Given the description of an element on the screen output the (x, y) to click on. 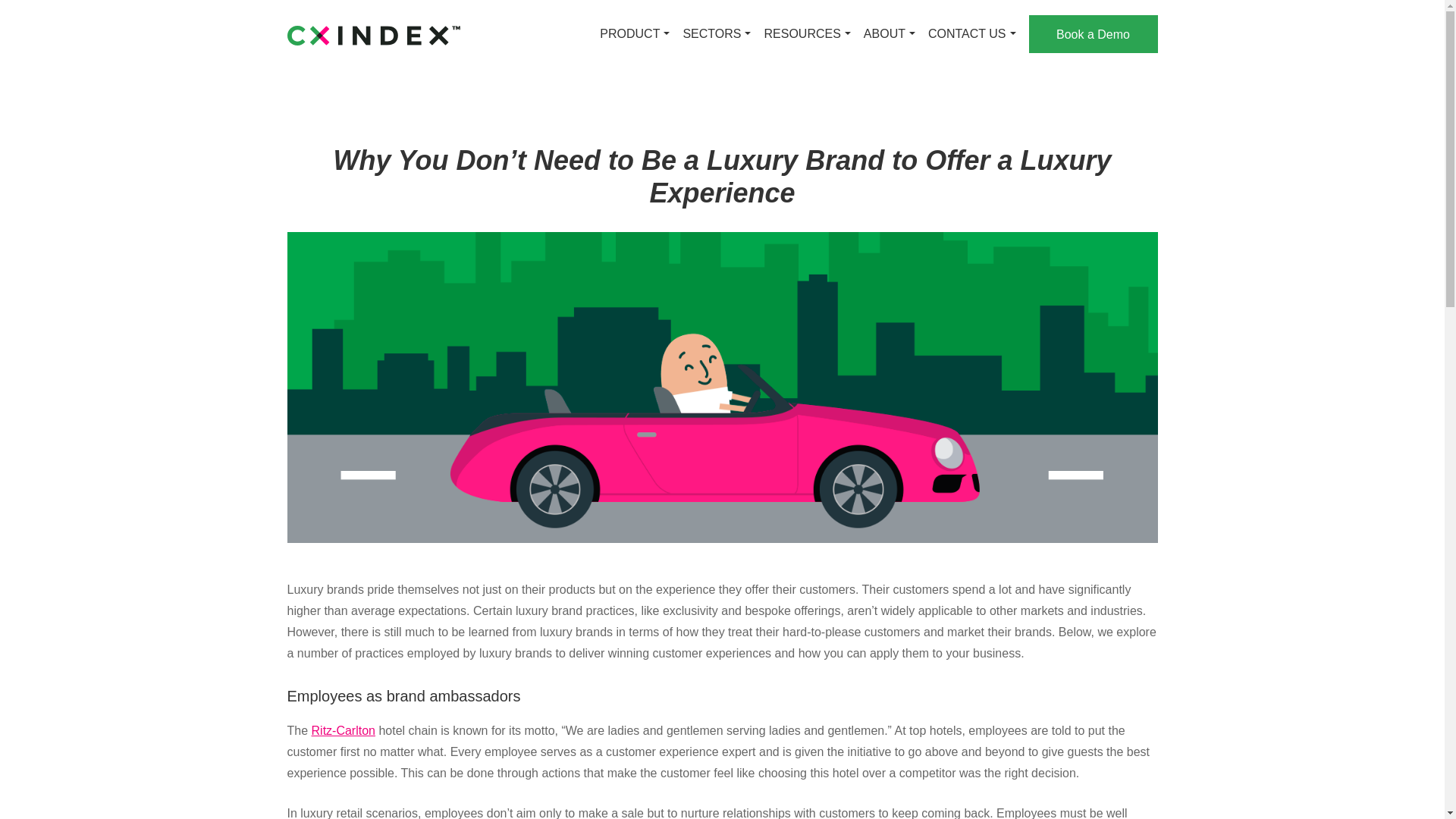
CONTACT US (967, 33)
Ritz-Carlton (343, 730)
SECTORS (711, 33)
ABOUT (884, 33)
Book a Demo (1092, 34)
RESOURCES (801, 33)
PRODUCT (629, 33)
